Given the description of an element on the screen output the (x, y) to click on. 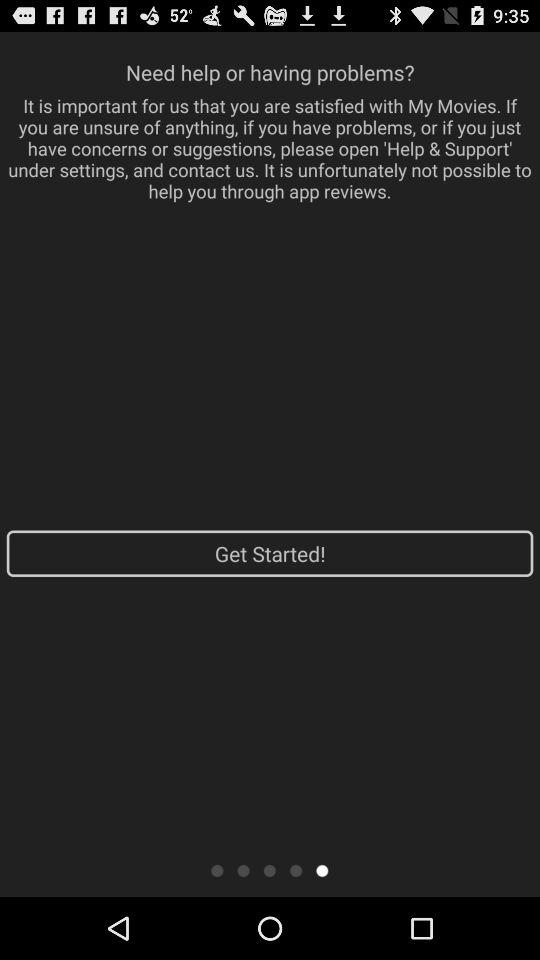
navigate to page 4 (295, 870)
